Given the description of an element on the screen output the (x, y) to click on. 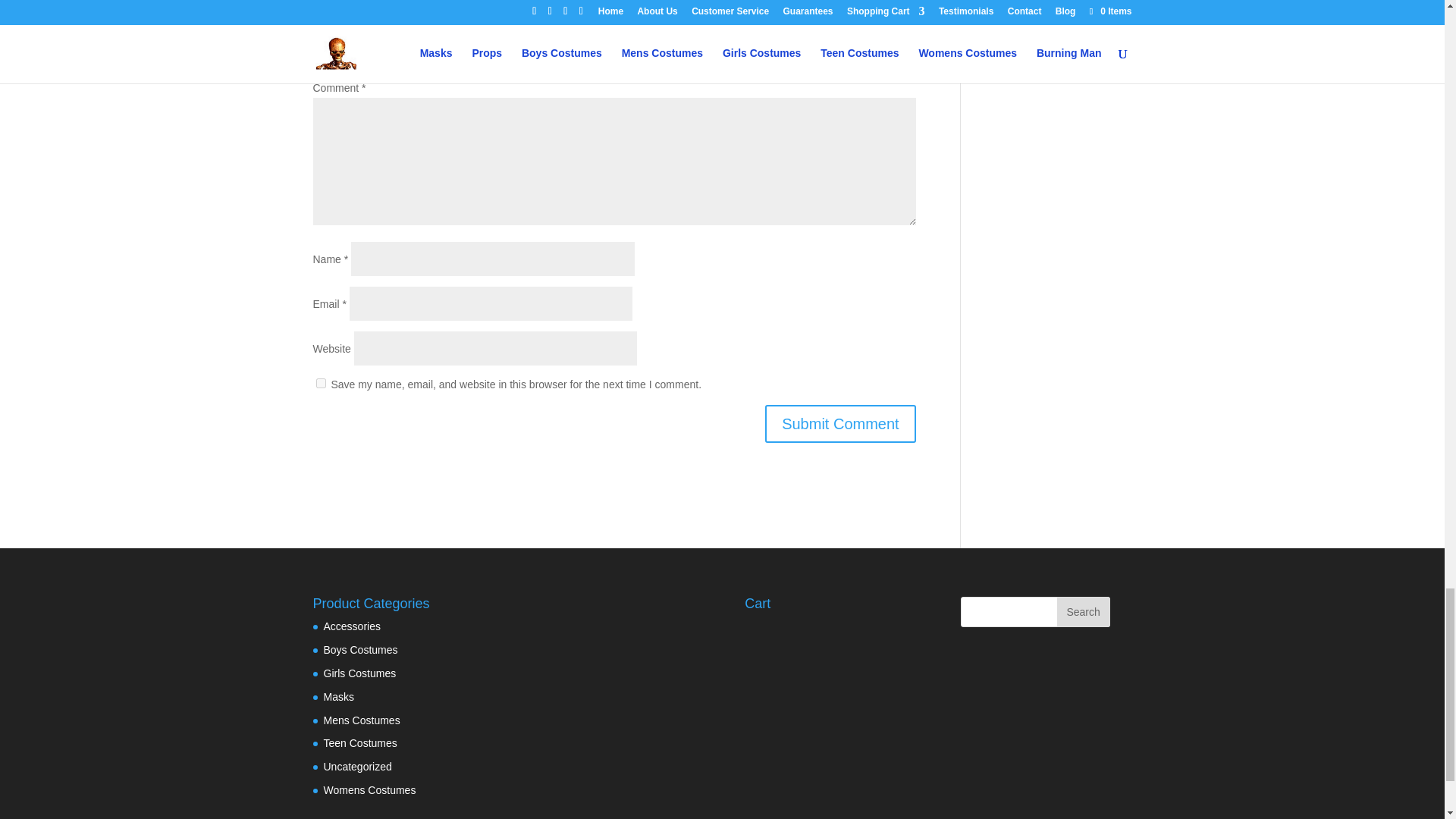
yes (319, 383)
Masks (338, 696)
Teen Costumes (359, 743)
Womens Costumes (368, 789)
Boys Costumes (360, 649)
Girls Costumes (359, 673)
Submit Comment (840, 423)
Search (1083, 612)
Submit Comment (840, 423)
Search (1083, 612)
Accessories (351, 625)
Uncategorized (357, 766)
Mens Costumes (360, 720)
